Given the description of an element on the screen output the (x, y) to click on. 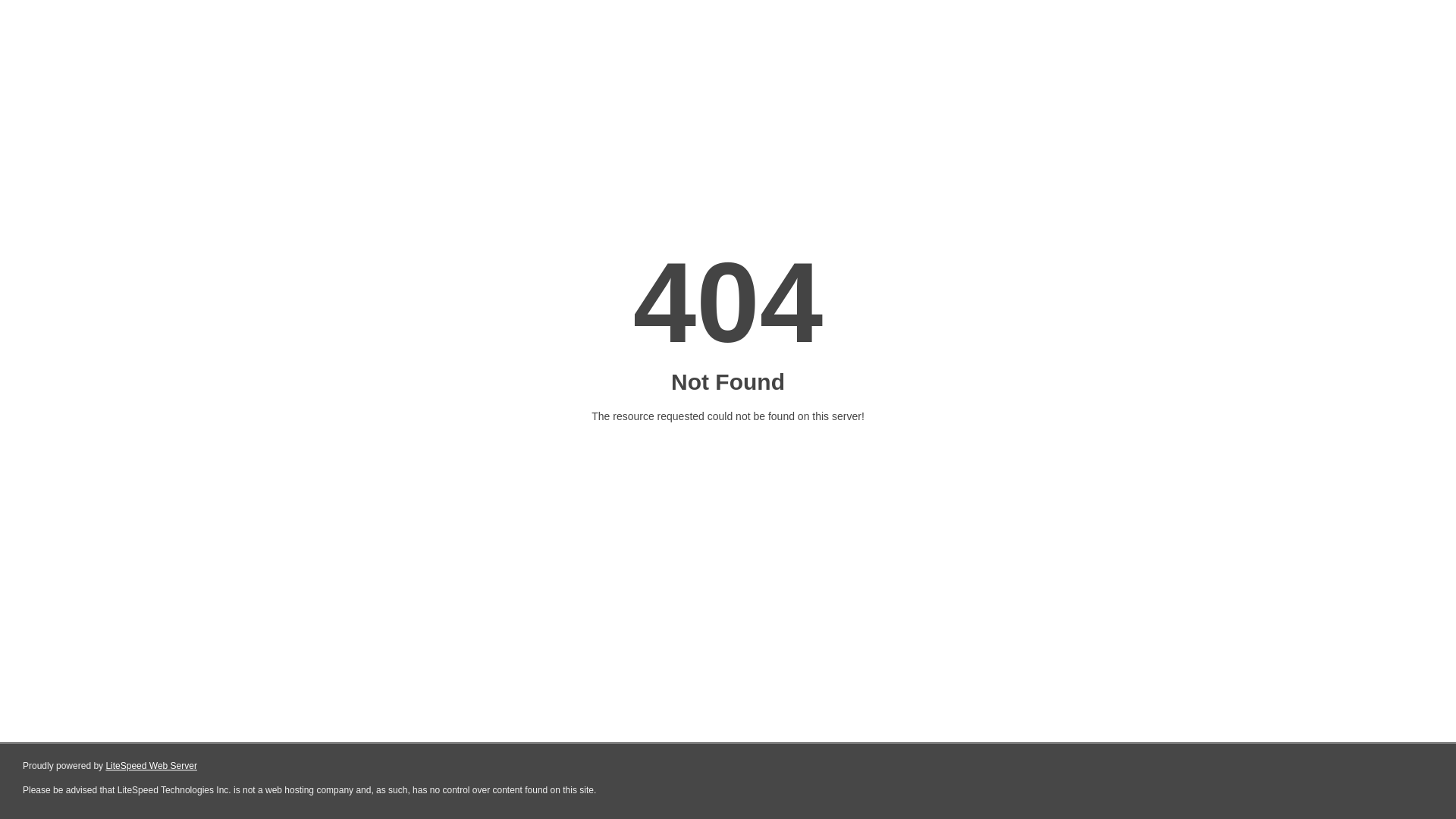
LiteSpeed Web Server Element type: text (151, 765)
